Given the description of an element on the screen output the (x, y) to click on. 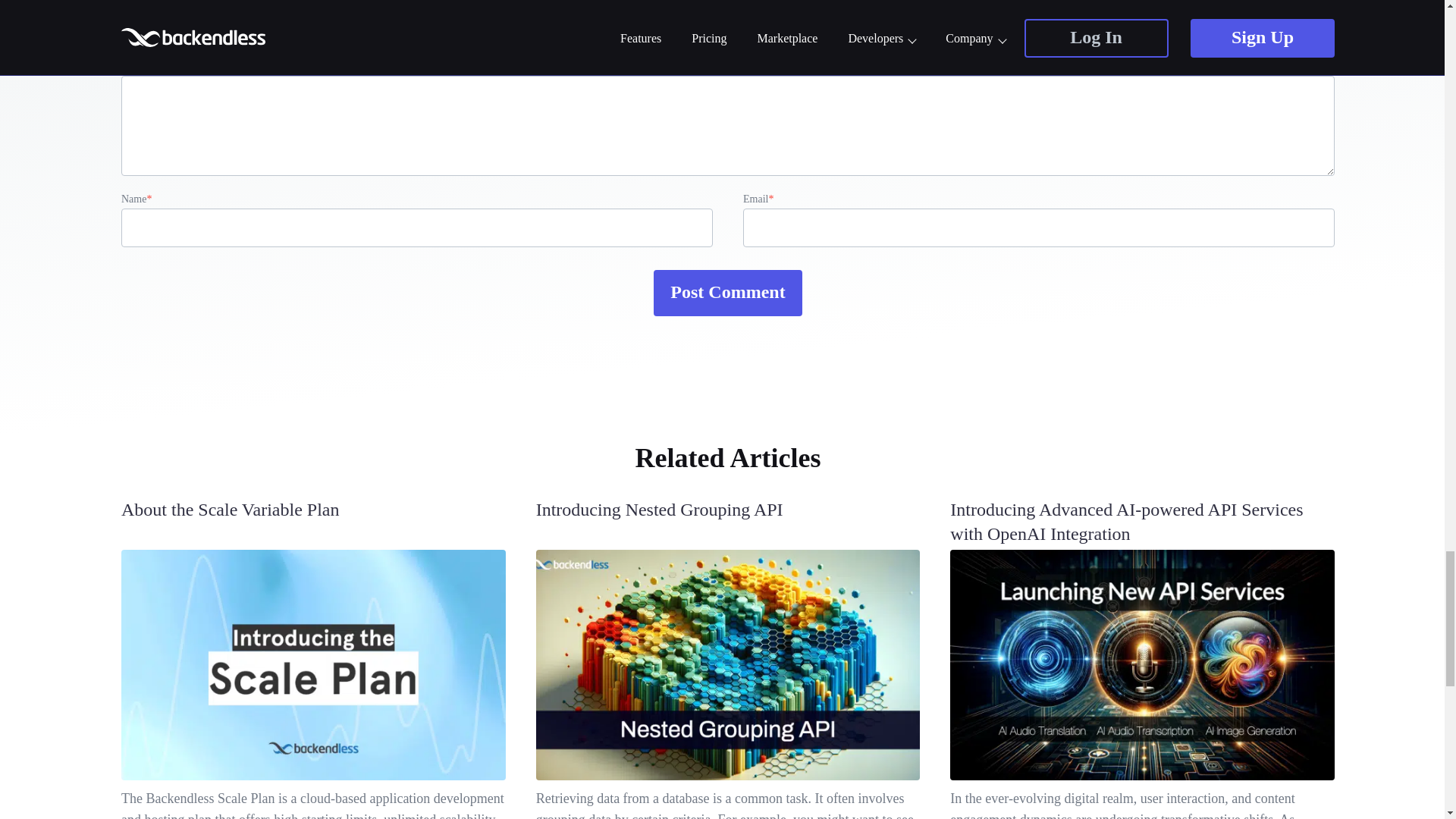
Post Comment (727, 293)
